Given the description of an element on the screen output the (x, y) to click on. 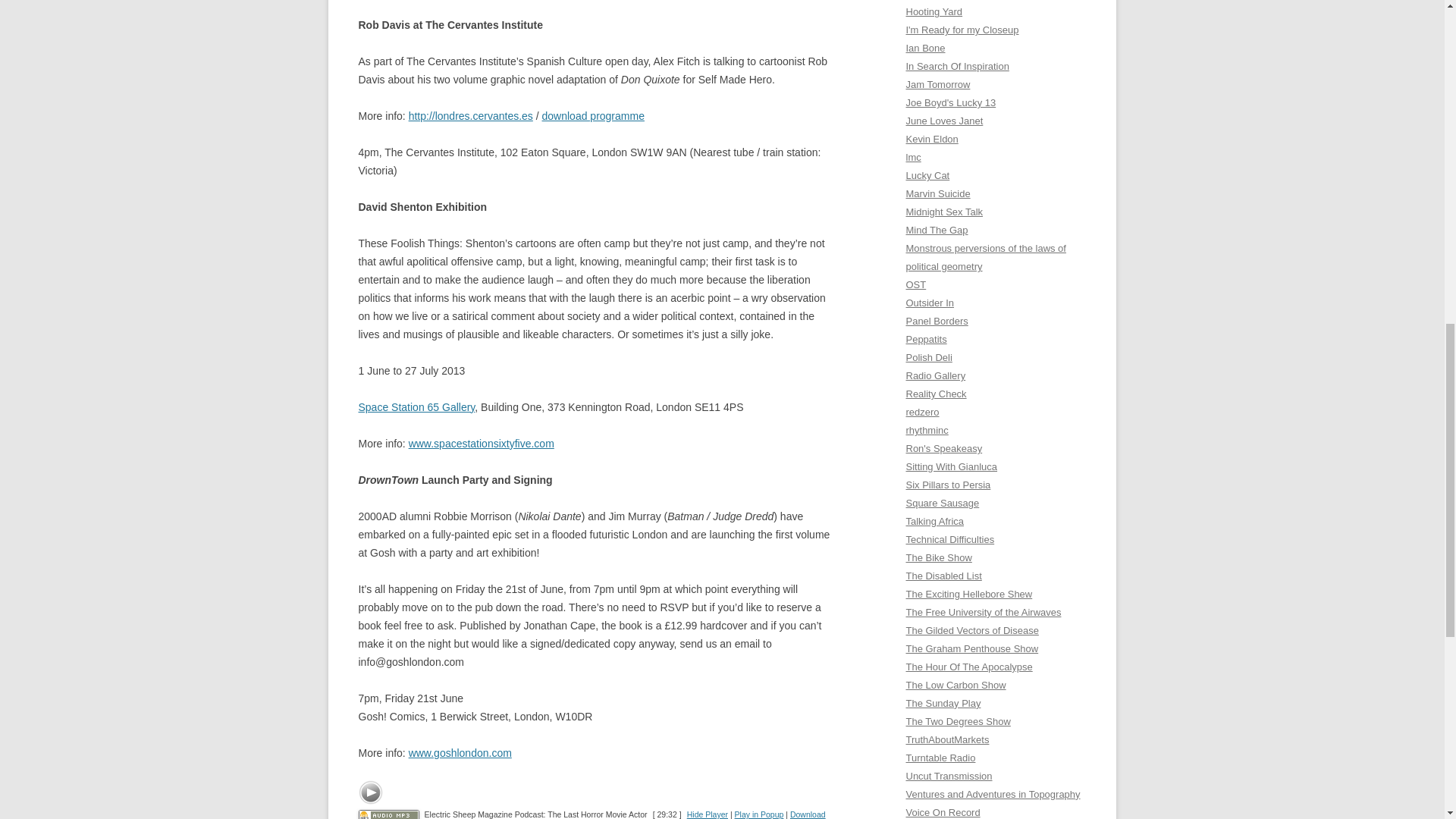
Space Station 65 Gallery (416, 407)
download programme (593, 115)
Play in Popup (759, 814)
Hide Player (707, 814)
www.goshlondon.com (460, 752)
Hooting Yard (933, 11)
www.spacestationsixtyfive.com (481, 443)
Download (807, 814)
